Given the description of an element on the screen output the (x, y) to click on. 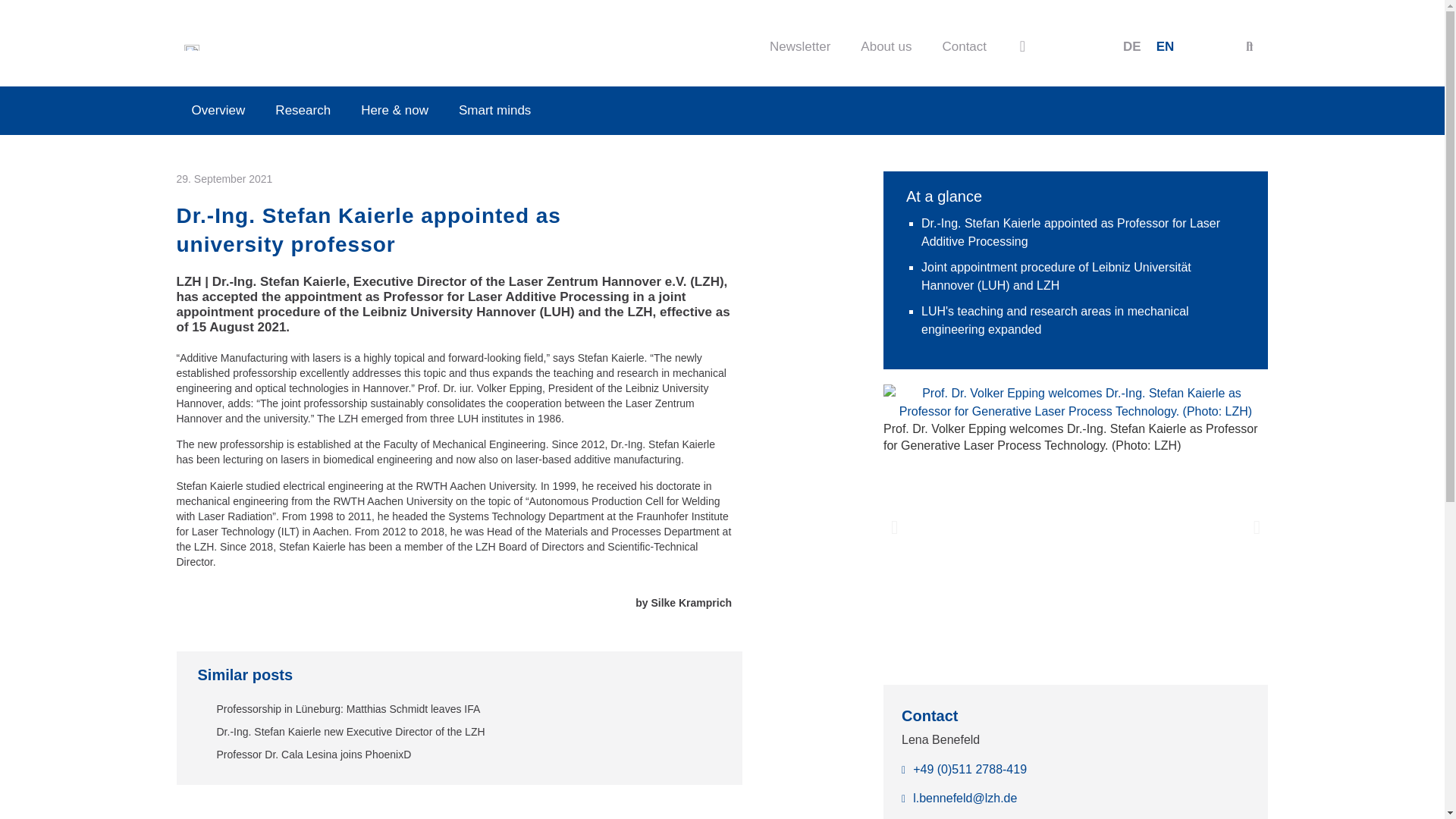
Contact (963, 46)
Smart minds (495, 110)
Newsletter (799, 46)
About us (885, 46)
Overview (218, 110)
Research (303, 110)
